Given the description of an element on the screen output the (x, y) to click on. 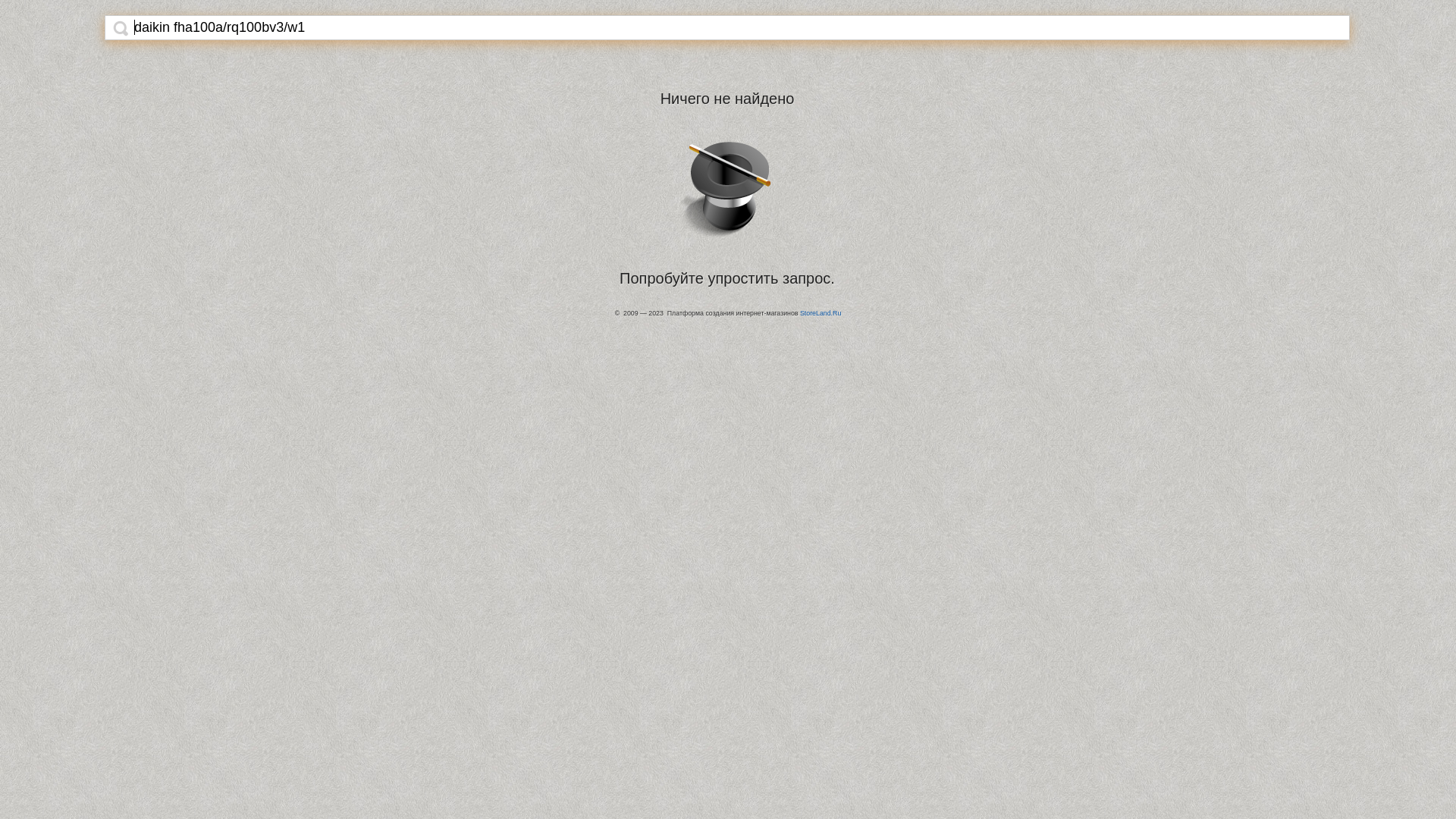
StoreLand.Ru Element type: text (820, 312)
daikin fha100a/rq100bv3/w1 Element type: text (739, 27)
